Given the description of an element on the screen output the (x, y) to click on. 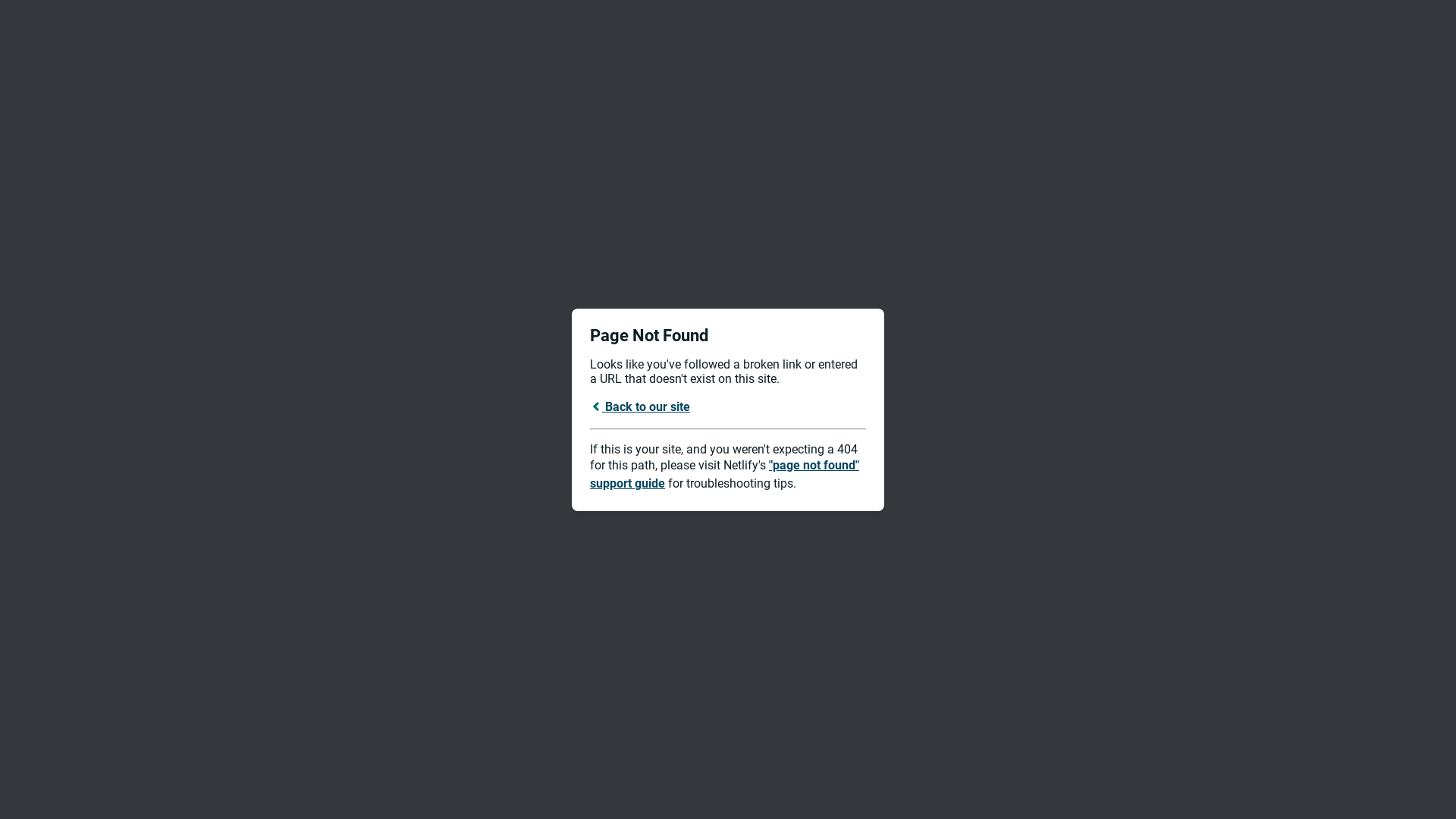
"page not found" support guide Element type: text (724, 474)
Back to our site Element type: text (639, 405)
